Given the description of an element on the screen output the (x, y) to click on. 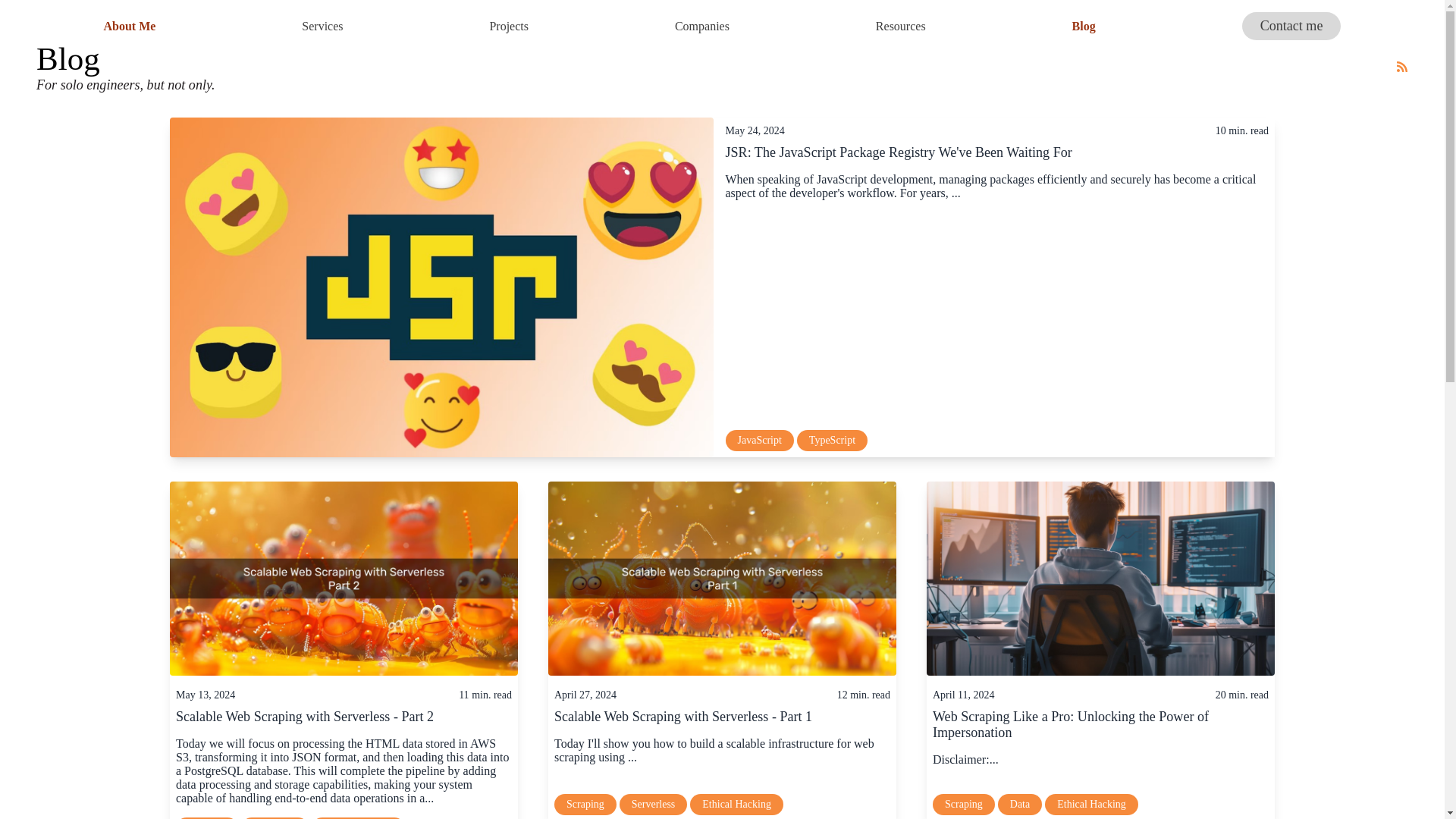
Services (321, 25)
RSS Feed (125, 66)
About Me (1401, 66)
Companies (129, 25)
Projects (702, 25)
